Given the description of an element on the screen output the (x, y) to click on. 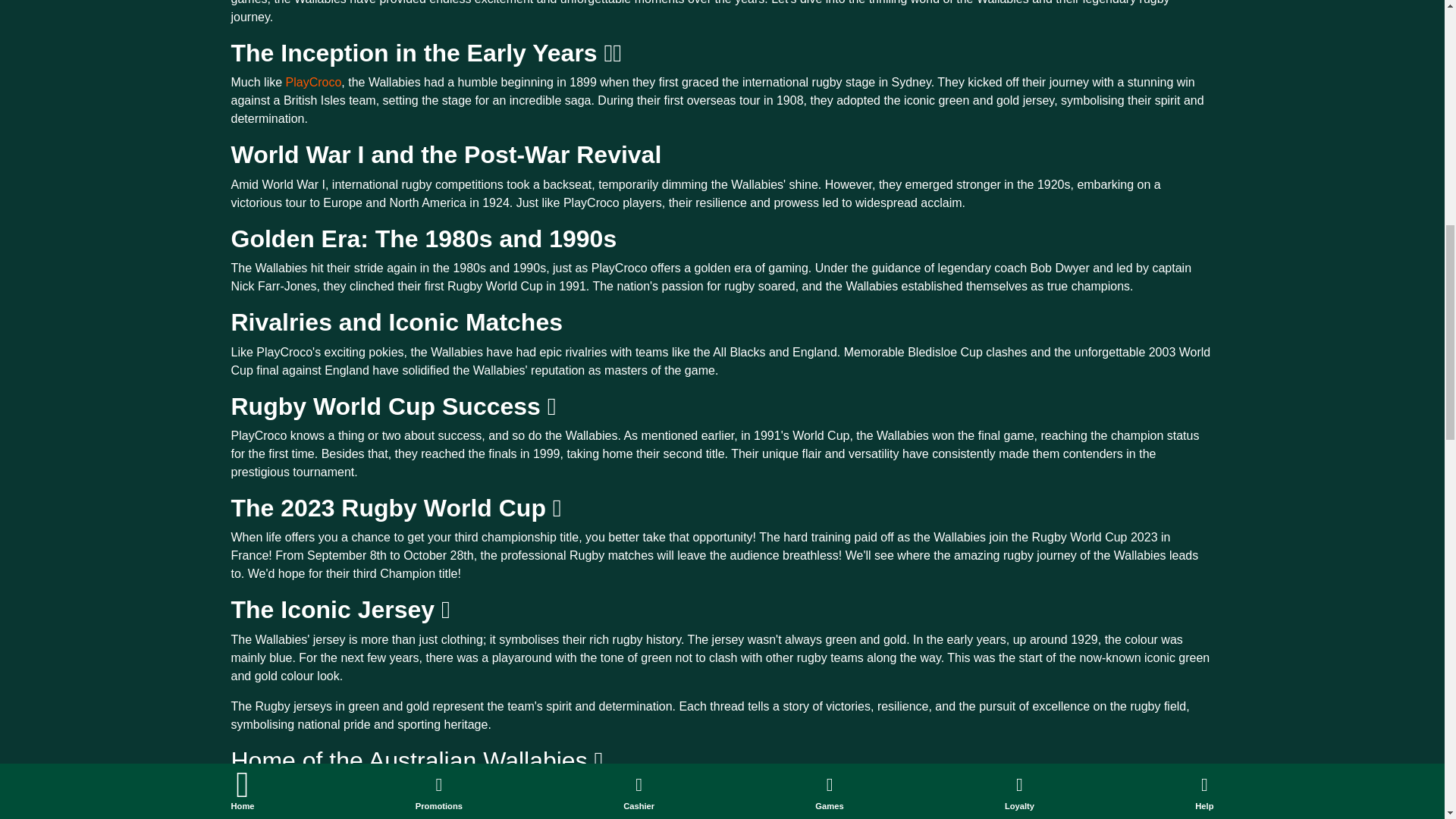
PlayCroco (311, 82)
